Given the description of an element on the screen output the (x, y) to click on. 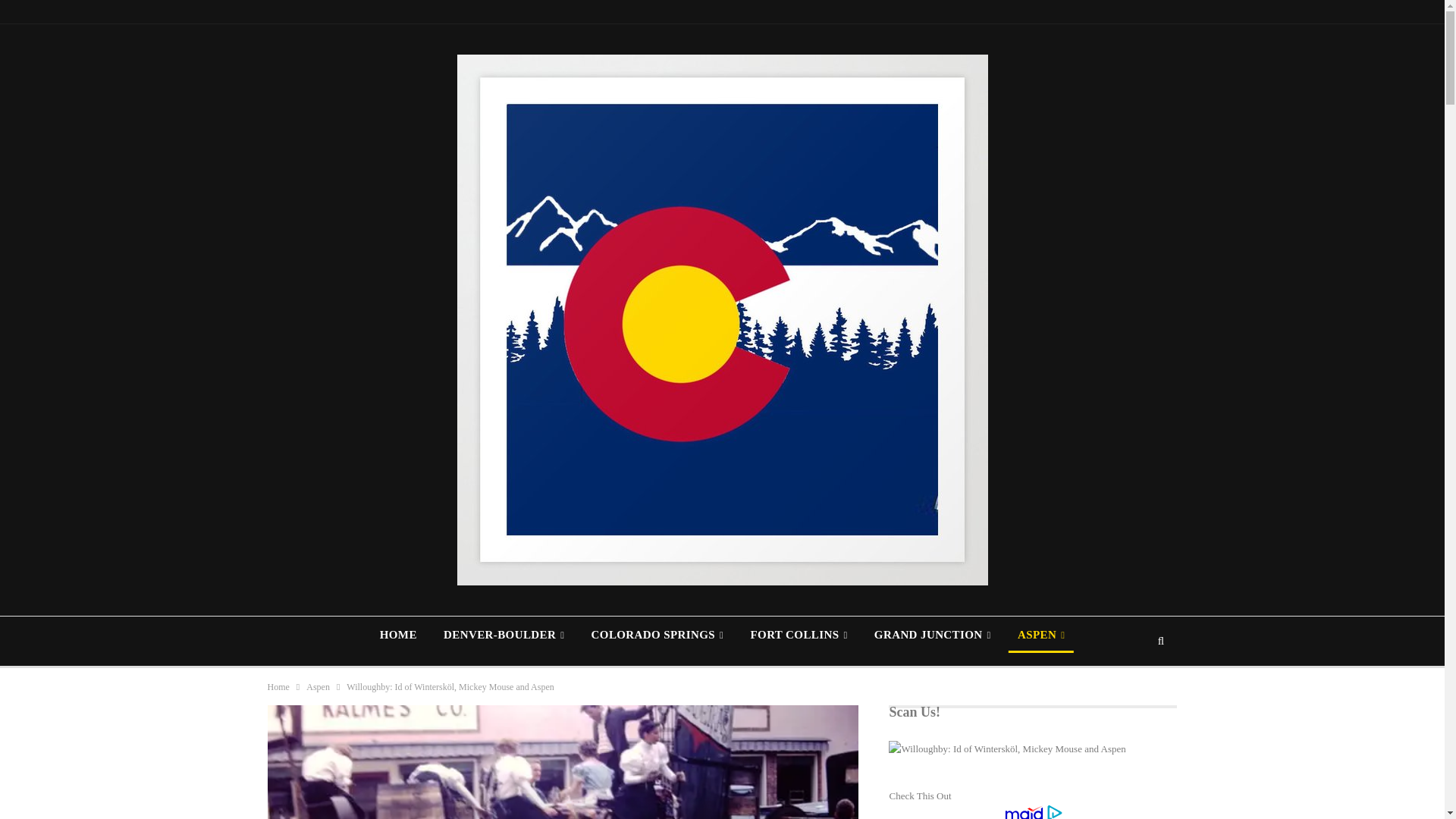
DENVER-BOULDER (503, 634)
HOME (398, 634)
COLORADO SPRINGS (657, 634)
FORT COLLINS (799, 634)
